Given the description of an element on the screen output the (x, y) to click on. 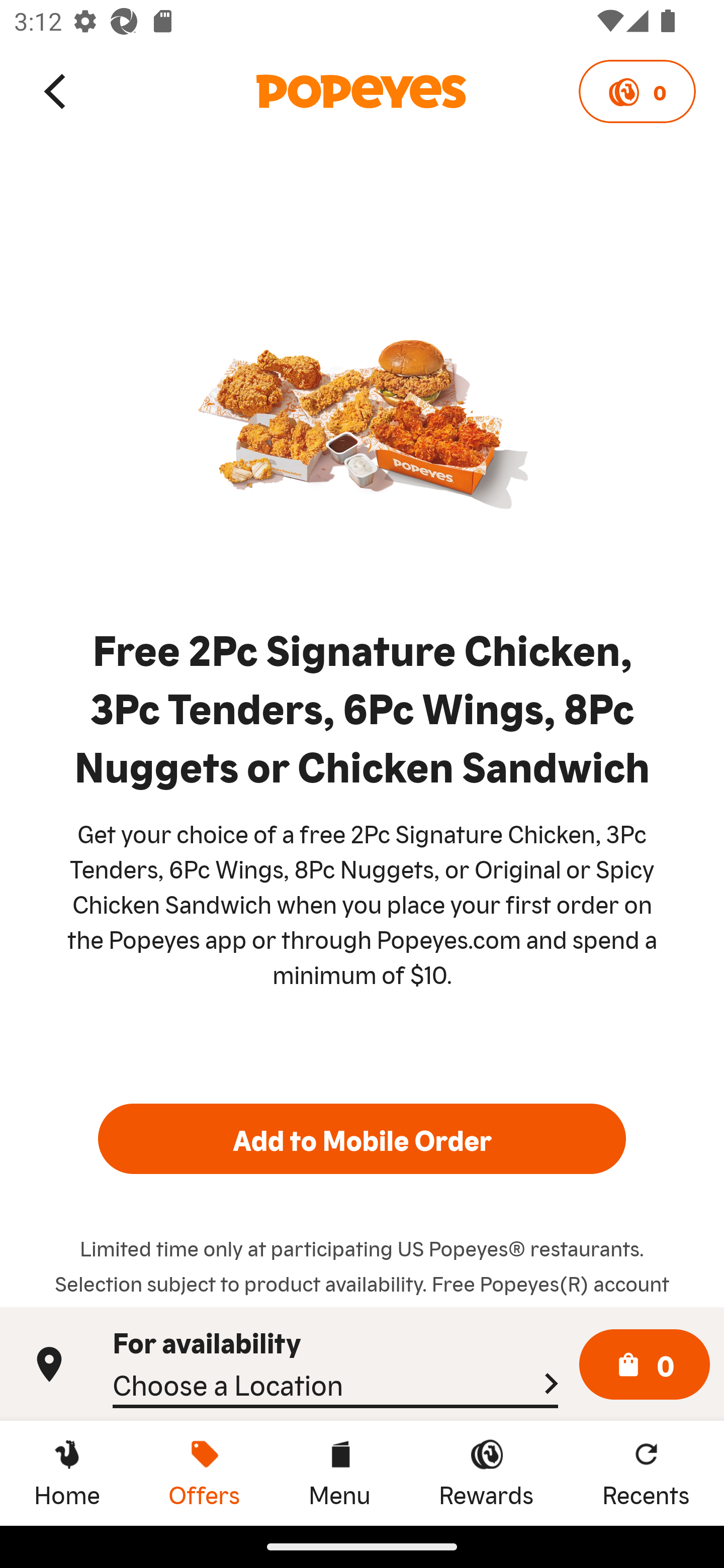
Back (56, 90)
0 Points 0 (636, 91)
Add to Mobile Order (361, 1138)
0 Cart total  0 (644, 1364)
Home Home Home (66, 1472)
Offers, current page Offers Offers, current page (203, 1472)
Menu Menu Menu (339, 1472)
Rewards Rewards Rewards (486, 1472)
Recents Recents Recents (646, 1472)
